Given the description of an element on the screen output the (x, y) to click on. 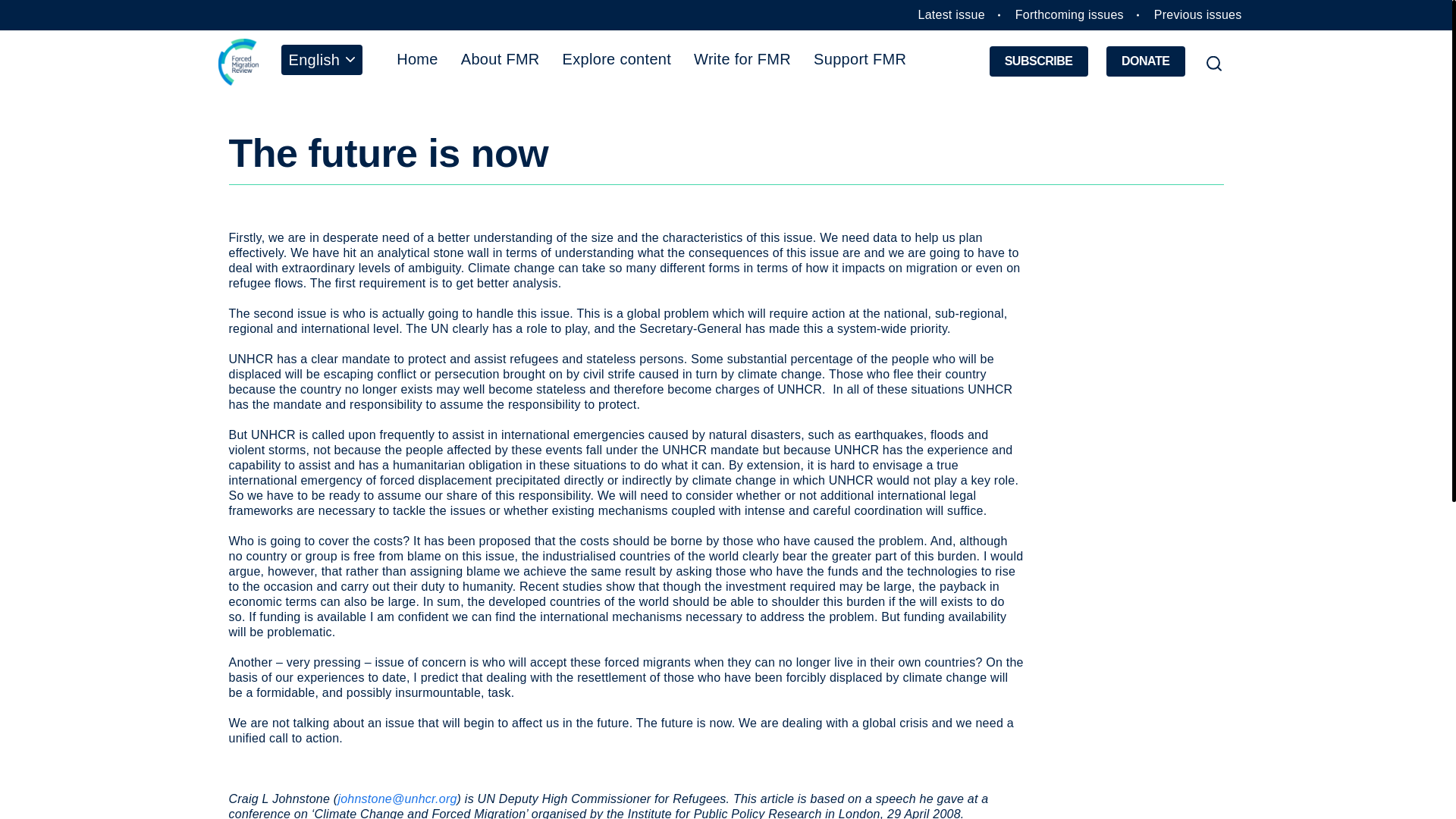
Previous issues (1197, 14)
Explore content (616, 58)
Forthcoming issues (1069, 14)
DONATE (1145, 60)
Previous issues (1197, 14)
Latest issue (951, 14)
Home (417, 58)
Forthcoming issues (1069, 14)
About FMR (500, 58)
Support FMR (859, 58)
